Given the description of an element on the screen output the (x, y) to click on. 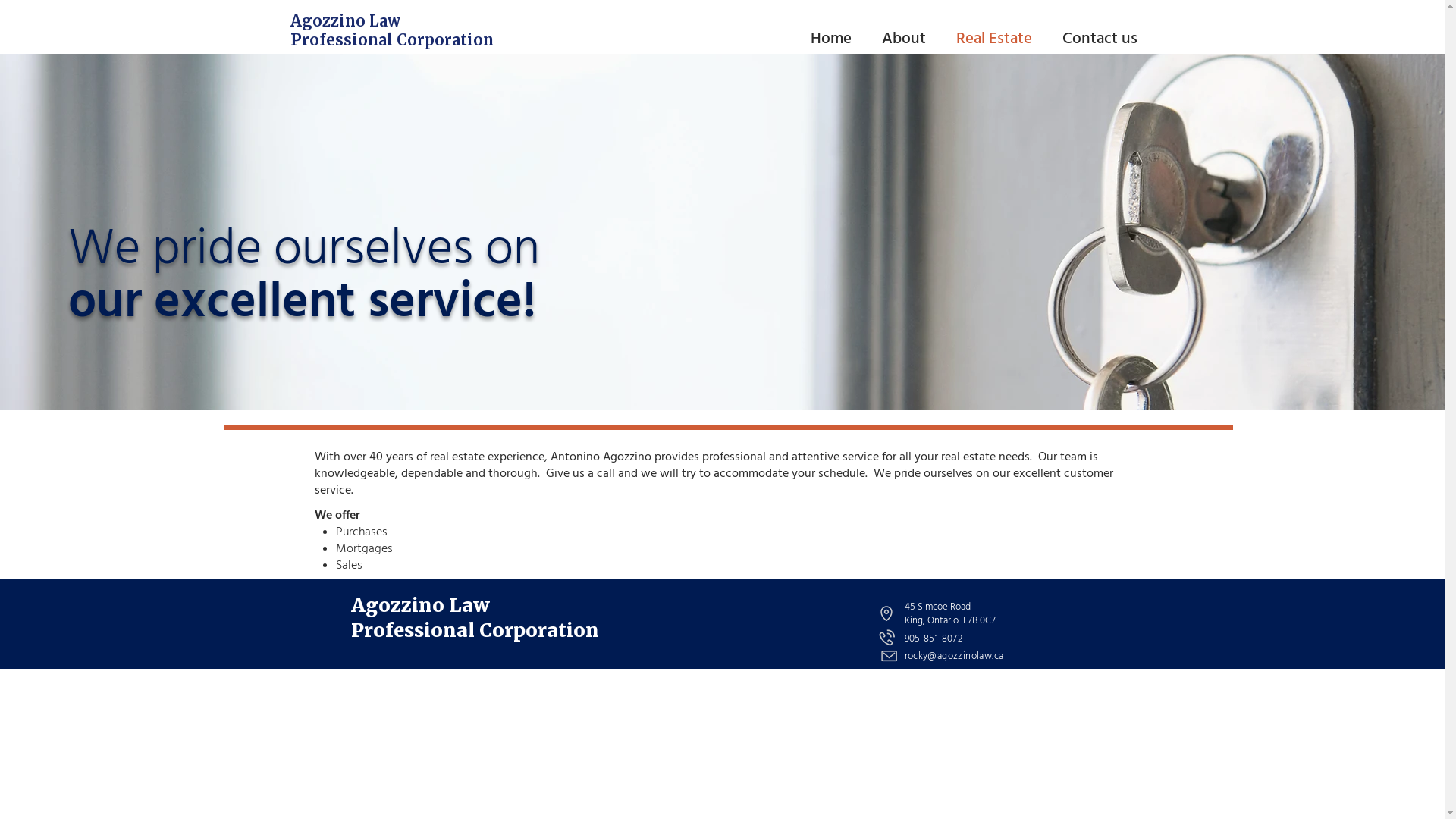
Real Estate Element type: text (997, 36)
Contact us Element type: text (1103, 36)
About Element type: text (907, 36)
Professional Corporation Element type: text (390, 39)
rocky@agozzinolaw.ca Element type: text (953, 655)
Home Element type: text (834, 36)
Agozzino Law Element type: text (344, 20)
